Given the description of an element on the screen output the (x, y) to click on. 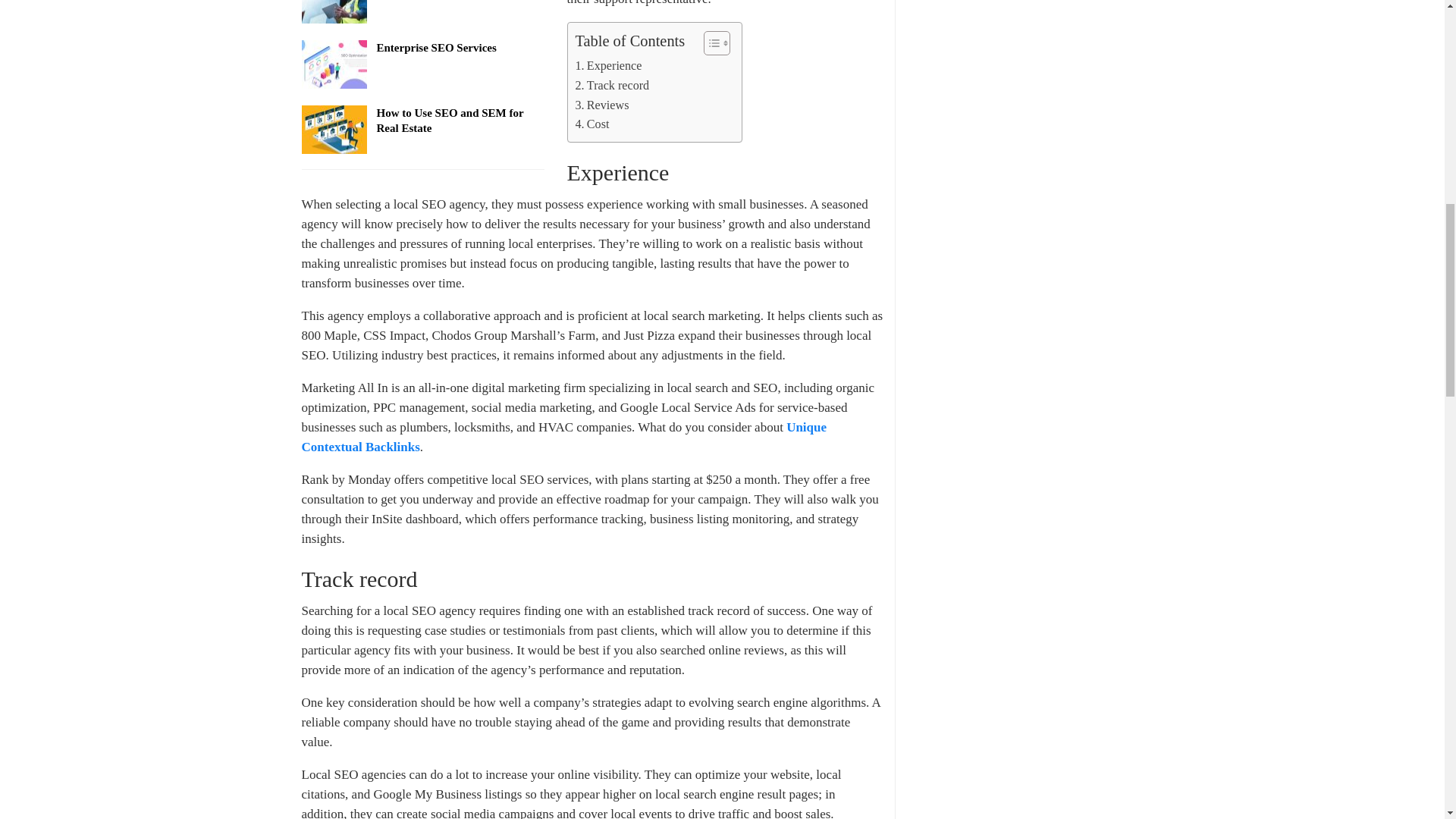
Google Fordito (333, 12)
Experience (608, 66)
Reviews (601, 105)
Track record (612, 85)
Cost (591, 124)
Enterprise SEO Services (333, 64)
How to Use SEO and SEM for Real Estate (333, 129)
